Given the description of an element on the screen output the (x, y) to click on. 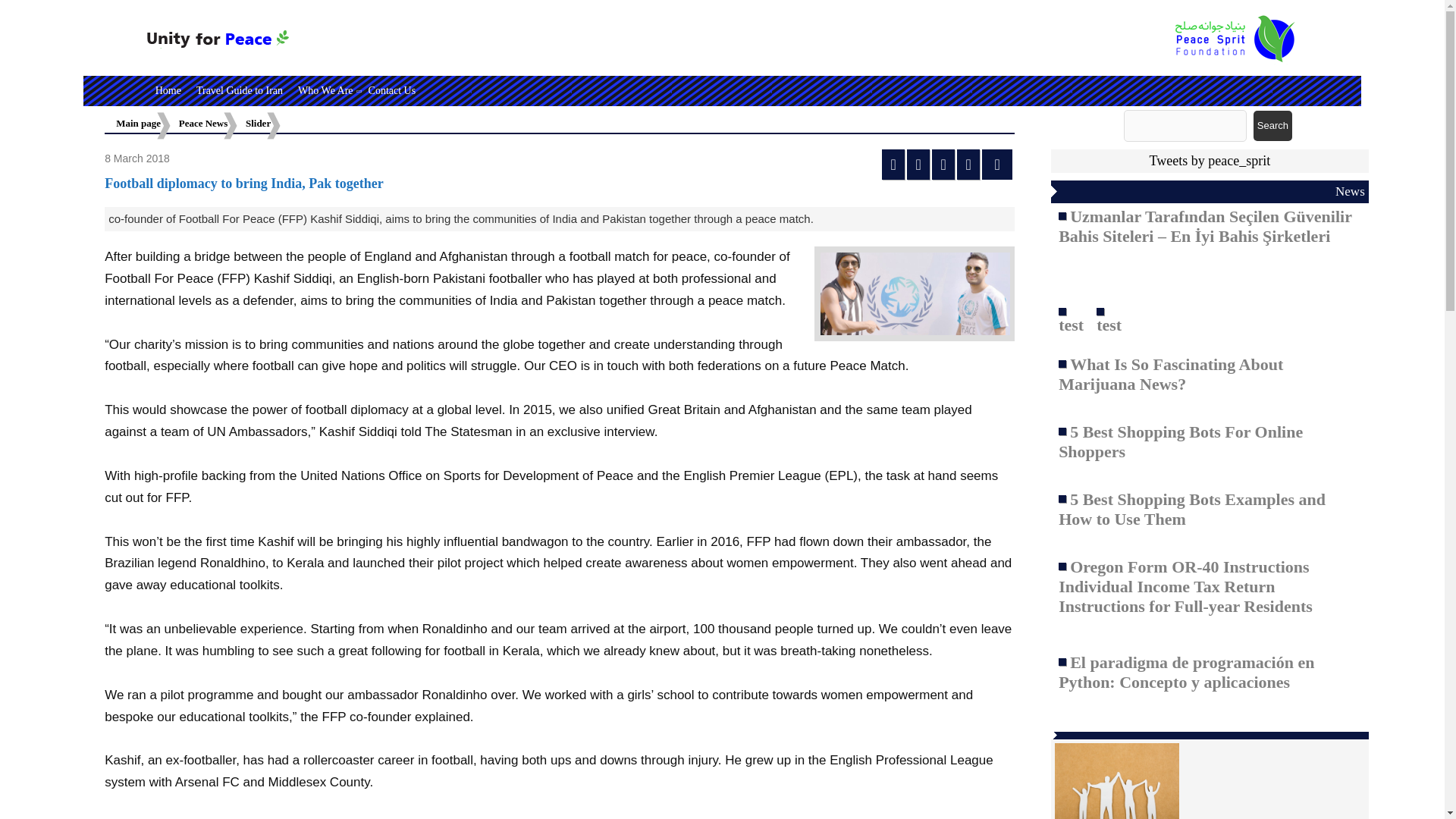
Home (168, 90)
Football diplomacy to bring India, Pak together (244, 183)
Share it (996, 164)
Contact Us (392, 90)
Travel Guide to Iran (239, 90)
Search (1272, 125)
Peace News (203, 122)
Main page (137, 122)
Who We Are (324, 90)
Slider (258, 122)
